Given the description of an element on the screen output the (x, y) to click on. 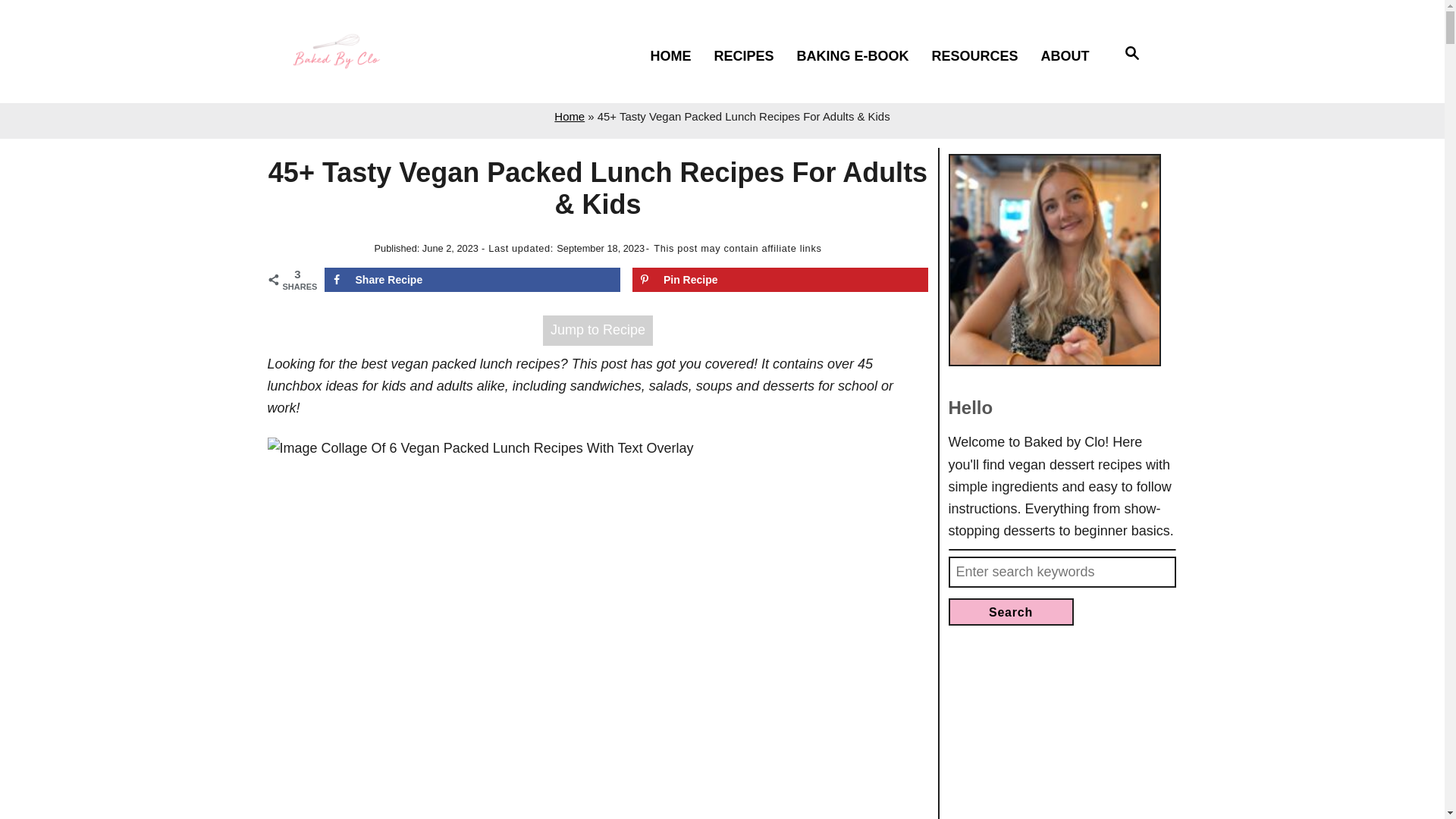
ABOUT (1070, 55)
BAKING E-BOOK (859, 55)
Save to Pinterest (779, 279)
Search (1010, 611)
RECIPES (750, 55)
Search (1010, 611)
Search (1132, 54)
RESOURCES (980, 55)
Home (569, 115)
Share on Facebook (472, 279)
